Given the description of an element on the screen output the (x, y) to click on. 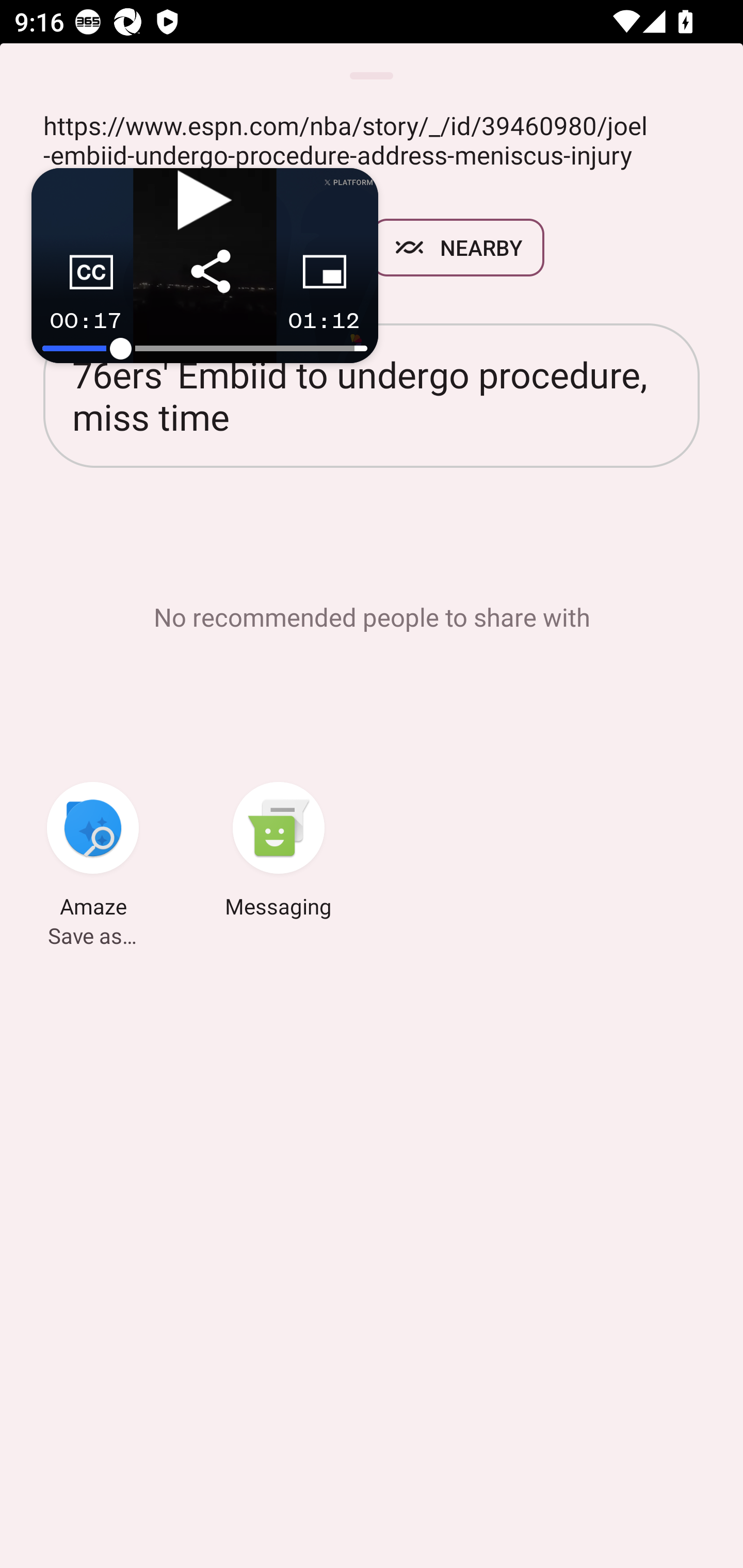
NEARBY (457, 247)
Amaze Save as… (92, 852)
Messaging (278, 852)
